Given the description of an element on the screen output the (x, y) to click on. 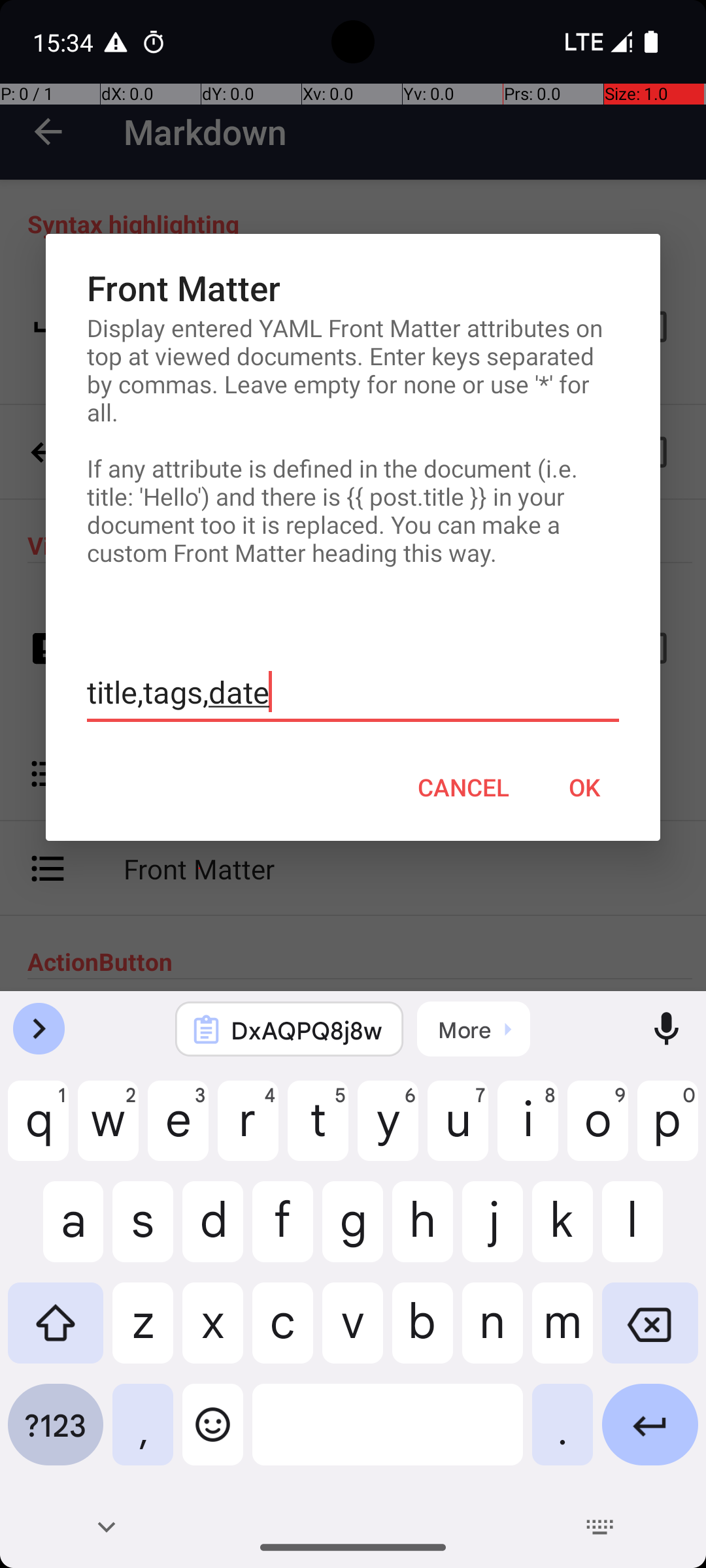
Front Matter Element type: android.widget.TextView (352, 287)
Display entered YAML Front Matter attributes on top at viewed documents. Enter keys separated by commas. Leave empty for none or use '*' for all. 

If any attribute is defined in the document (i.e. title: 'Hello') and there is {{ post.title }} in your document too it is replaced. You can make a custom Front Matter heading this way. Element type: android.widget.TextView (352, 439)
title,tags,date Element type: android.widget.EditText (352, 692)
DxAQPQ8j8w Element type: android.widget.TextView (306, 1029)
